Given the description of an element on the screen output the (x, y) to click on. 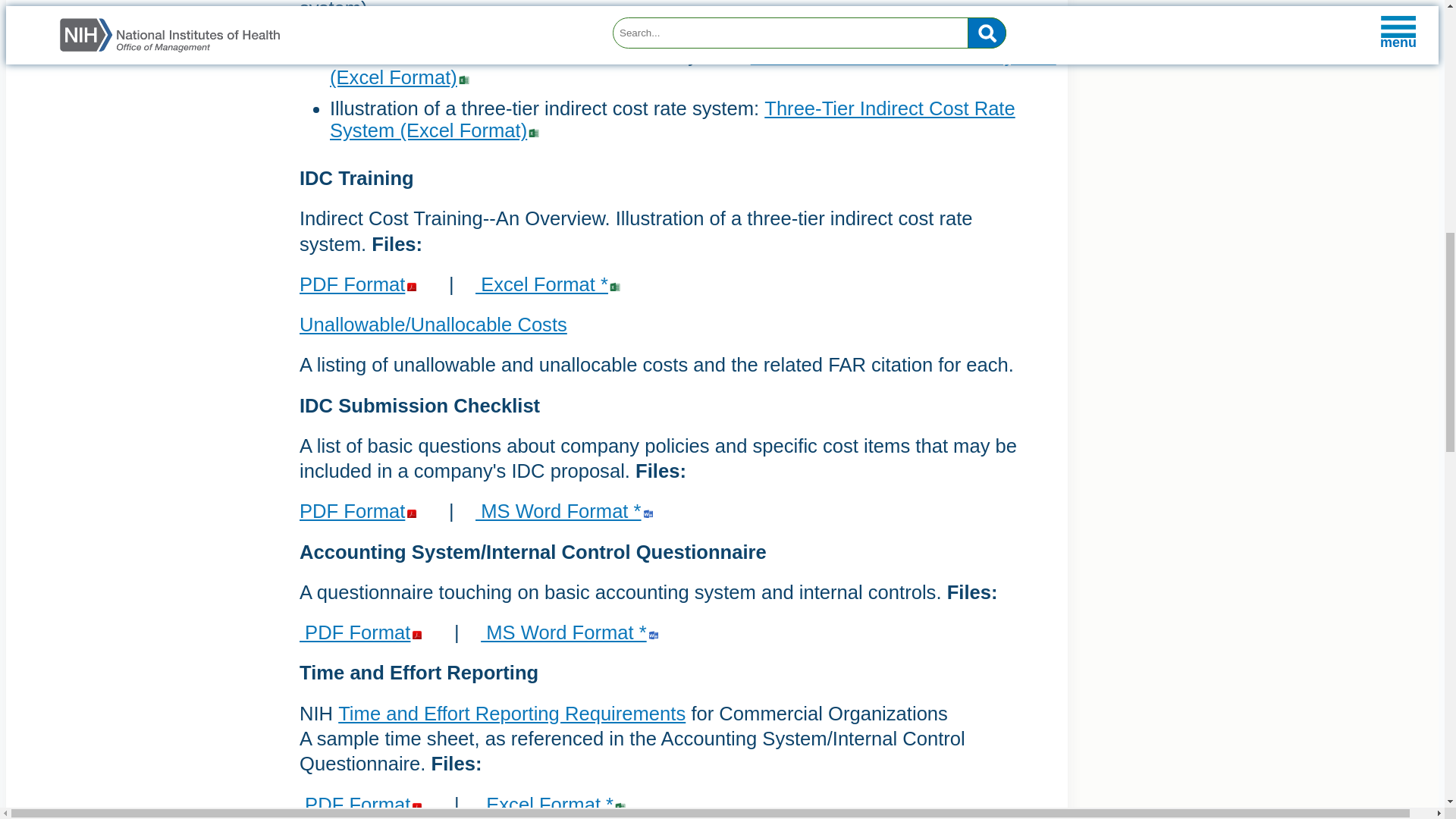
Click to see the file in PDF format (360, 283)
Click to see the files in MS word format (567, 510)
Click to see the file in MS word format (571, 631)
Click to see the file in PDF format (362, 631)
Click to see NIH time and effort reporting requirements (511, 712)
Click to time sheet in excel format (555, 803)
Click to see time sheet in PDF format (362, 803)
Click to see the files in MS excel format (550, 283)
Click to see the files in PDF format (360, 510)
